Given the description of an element on the screen output the (x, y) to click on. 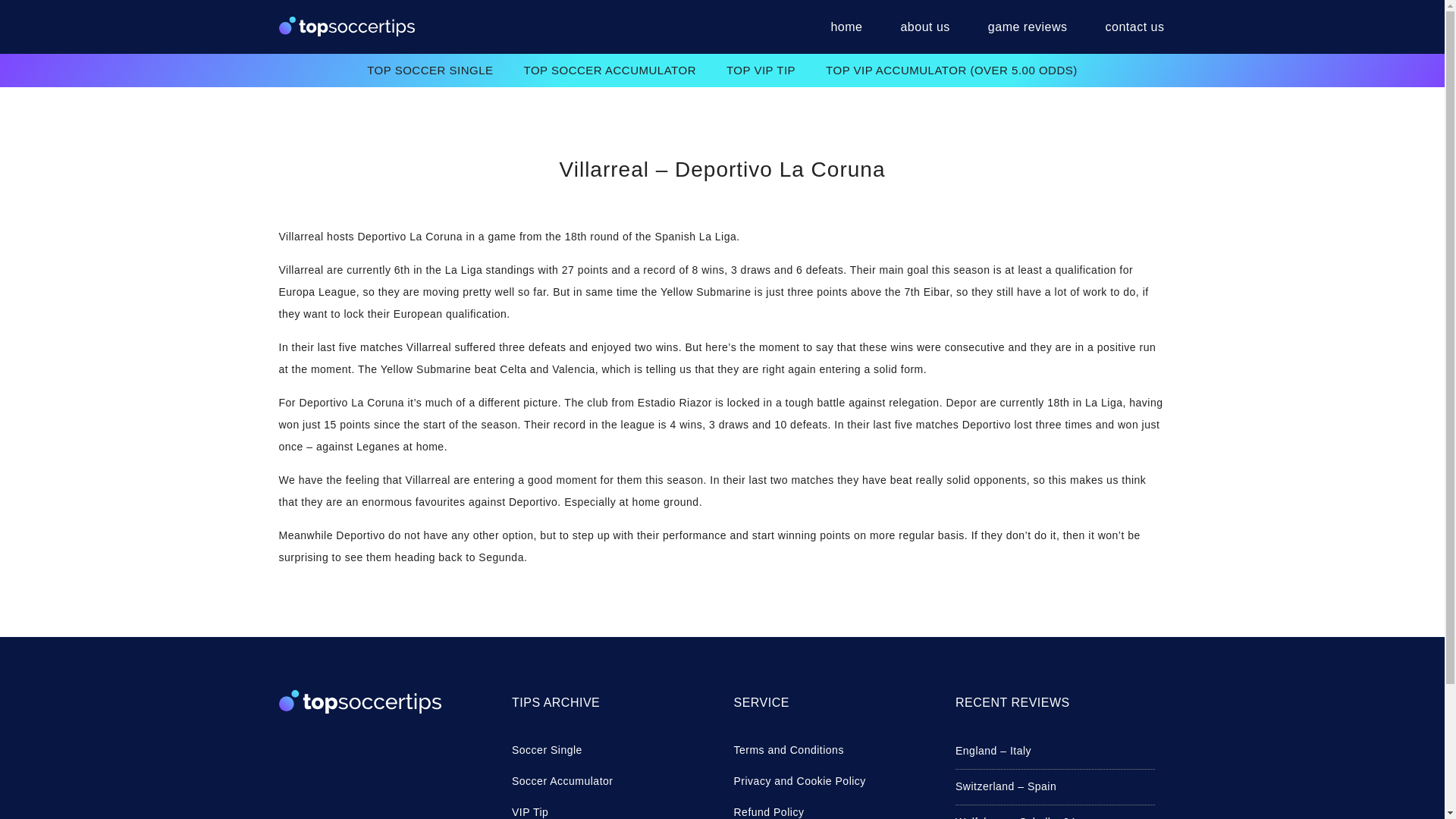
VIP Tip (611, 810)
about us (924, 27)
TOP SOCCER SINGLE (430, 70)
TOP SOCCER ACCUMULATOR (609, 70)
home (845, 27)
Terms and Conditions (833, 750)
Privacy and Cookie Policy (833, 781)
Soccer Accumulator (611, 781)
Soccer Single (611, 750)
Refund Policy (833, 810)
contact us (1125, 27)
TOP VIP TIP (761, 70)
game reviews (1027, 27)
